Given the description of an element on the screen output the (x, y) to click on. 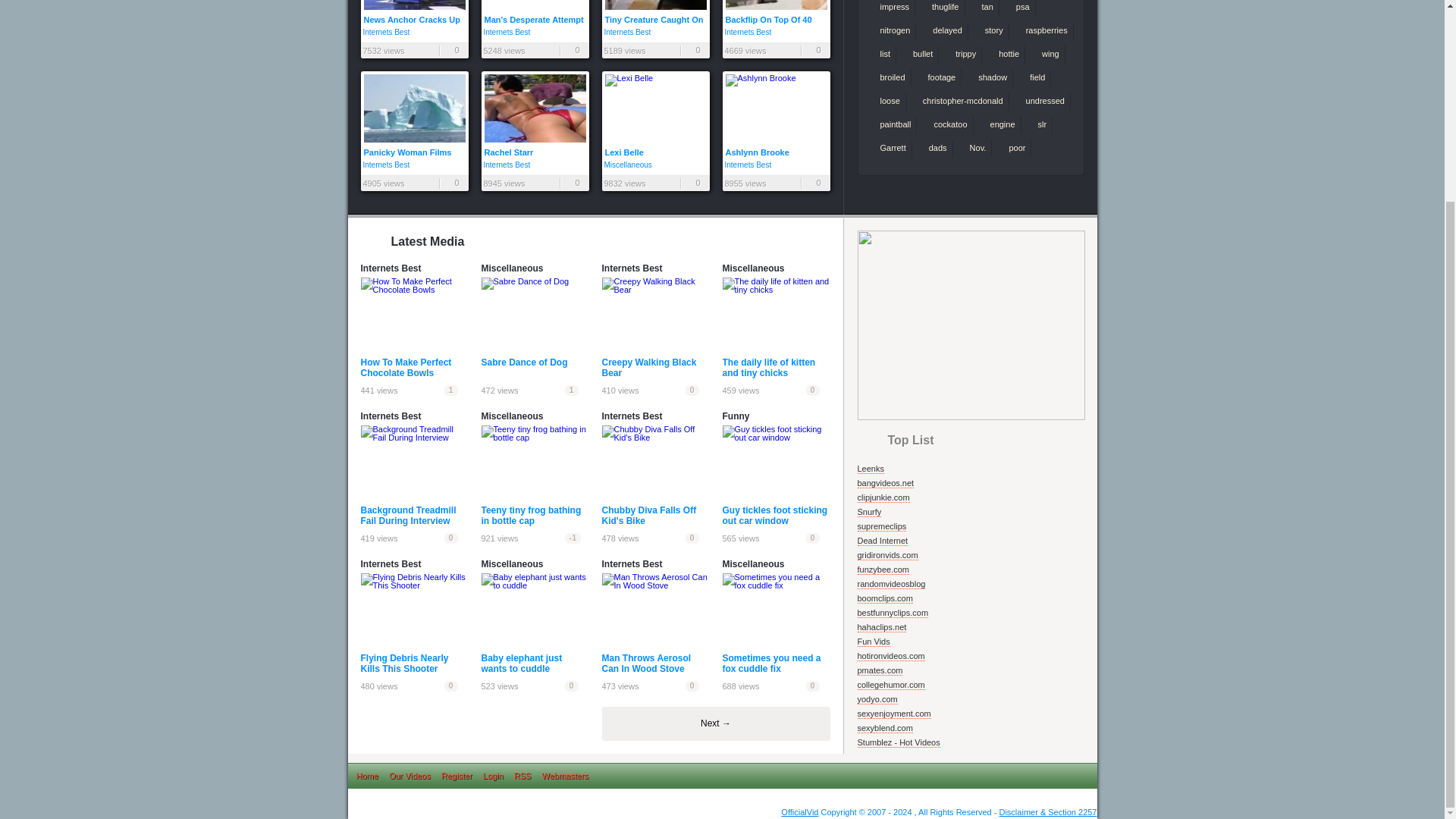
Internets Best (507, 31)
Rachel Starr  (534, 114)
Internets Best (748, 31)
Internets Best (385, 31)
Panicky Woman Films Collapse of An Iceberg (414, 114)
Panicky Woman Films Collapse of An Iceberg (414, 114)
Backflip On Top Of 40 Story Building (775, 12)
see all posts tagged thuglife (941, 8)
see all posts tagged psa (1019, 8)
Tiny Creature Caught On Camera (656, 12)
Internets Best (627, 31)
Tiny Creature Caught On Camera (656, 12)
News Anchor Cracks Up Over Comment About Balls (414, 12)
Backflip On Top Of 40 Story Building (775, 12)
see all posts tagged impress (891, 8)
